Given the description of an element on the screen output the (x, y) to click on. 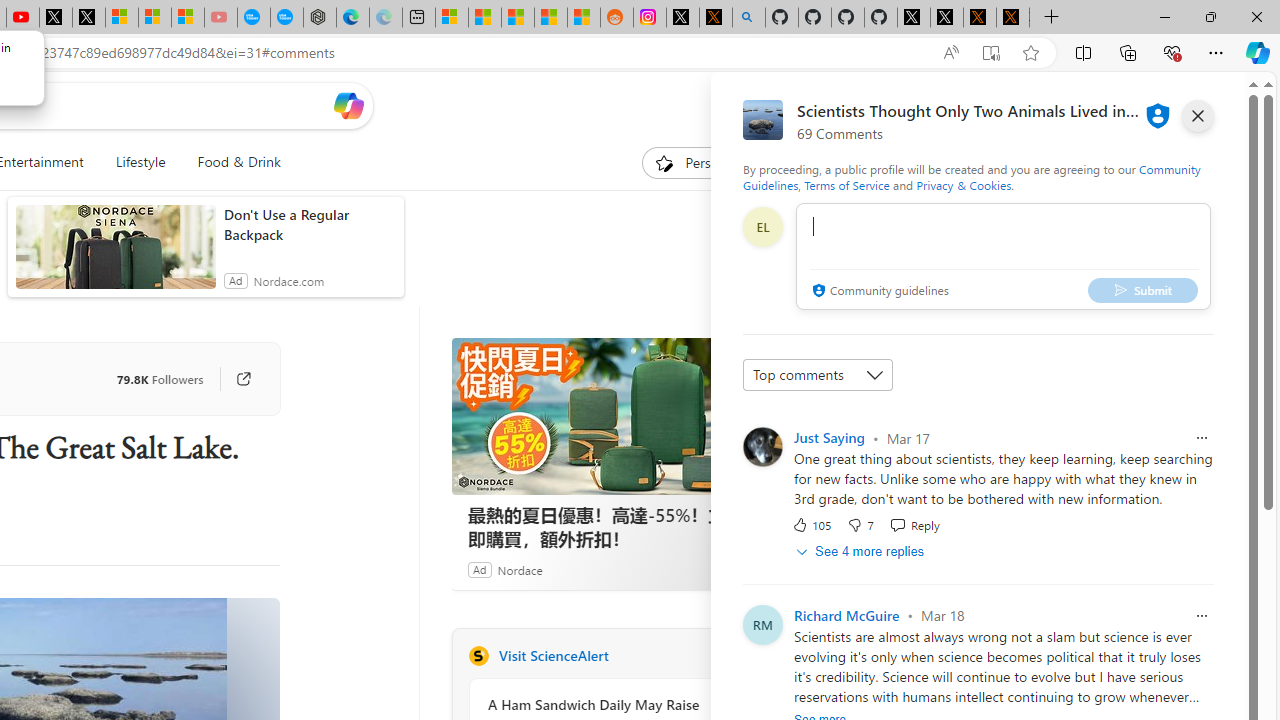
GitHub (@github) / X (946, 17)
See 4 more replies (861, 551)
Community guidelines (878, 291)
Profile Picture (762, 624)
ScienceAlert (478, 655)
Sort comments by (817, 374)
Nordace.com (288, 280)
